Given the description of an element on the screen output the (x, y) to click on. 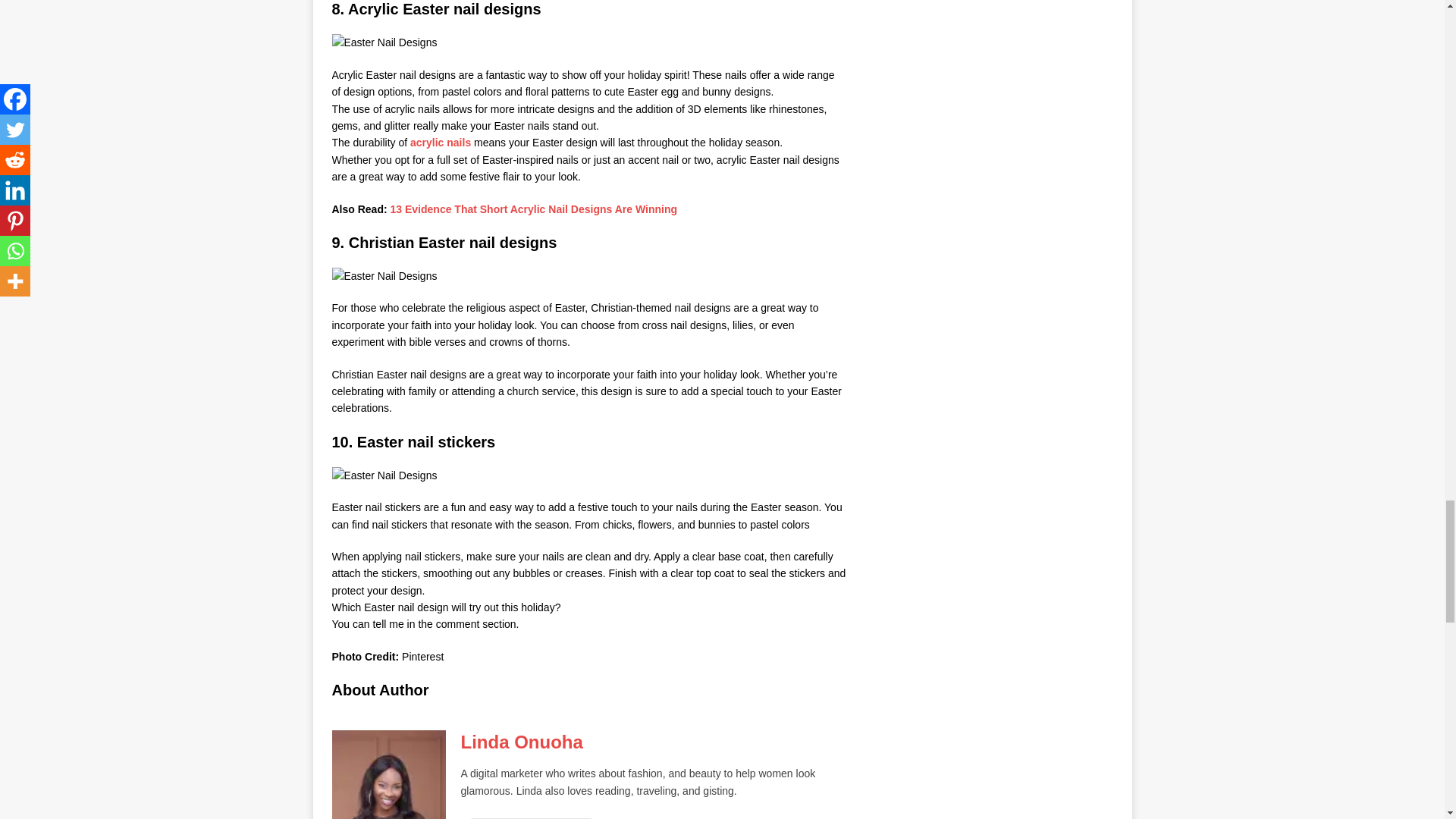
acrylic nails (440, 142)
Linda Onuoha (522, 742)
13 Evidence That Short Acrylic Nail Designs Are Winning (534, 209)
